Given the description of an element on the screen output the (x, y) to click on. 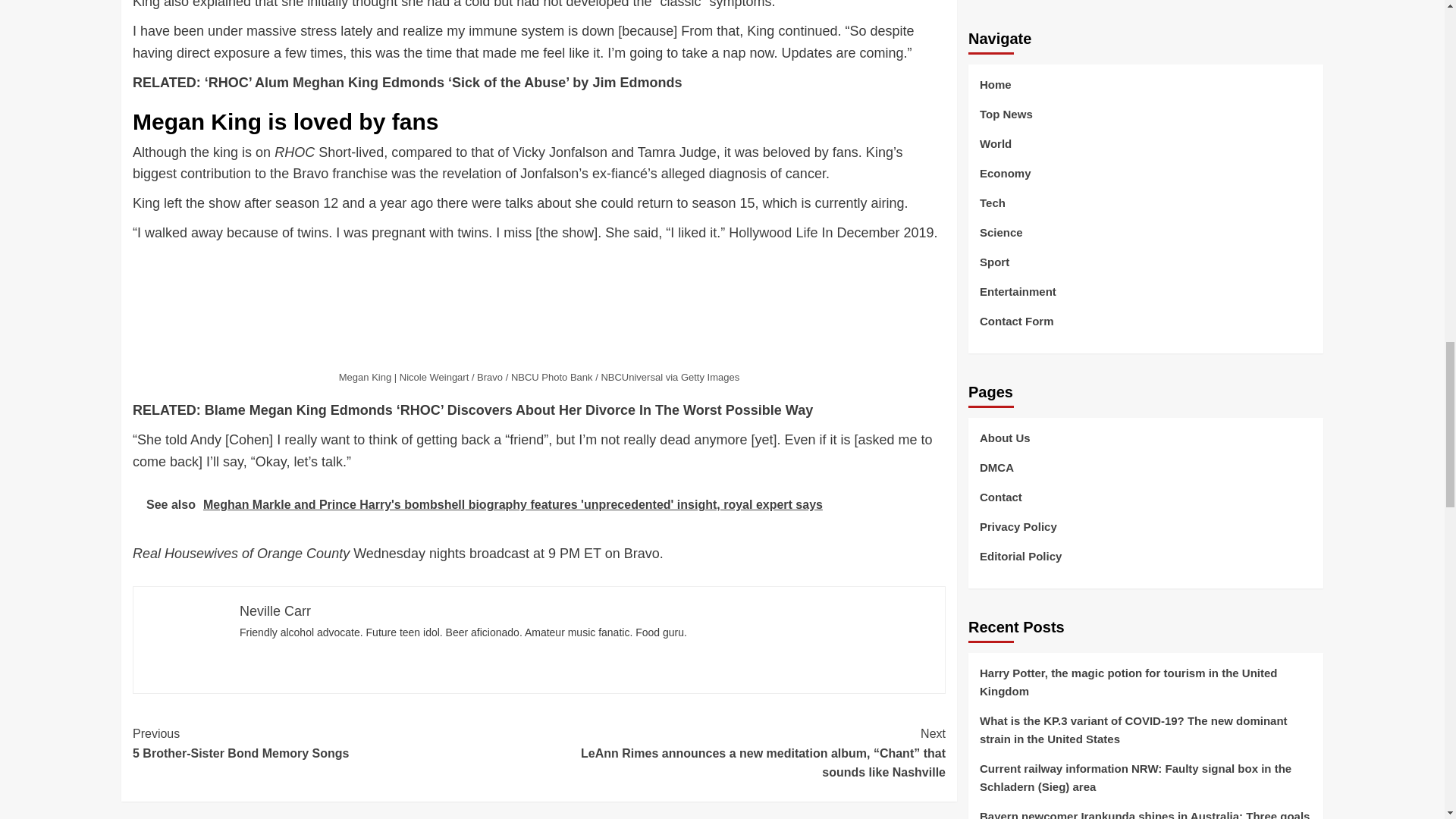
Hollywood Life (335, 742)
Neville Carr (772, 232)
